Given the description of an element on the screen output the (x, y) to click on. 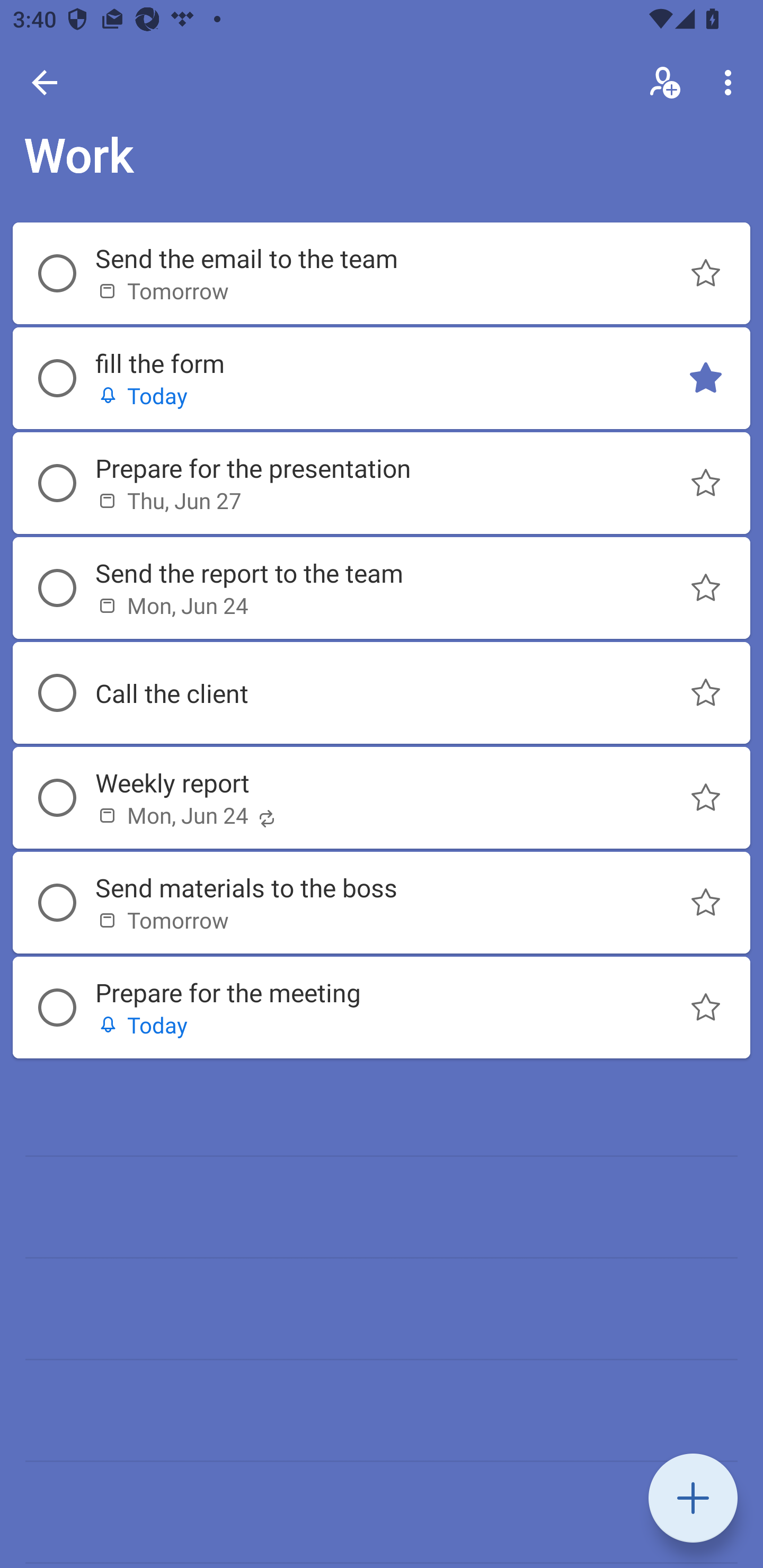
Add a task (692, 1497)
